Given the description of an element on the screen output the (x, y) to click on. 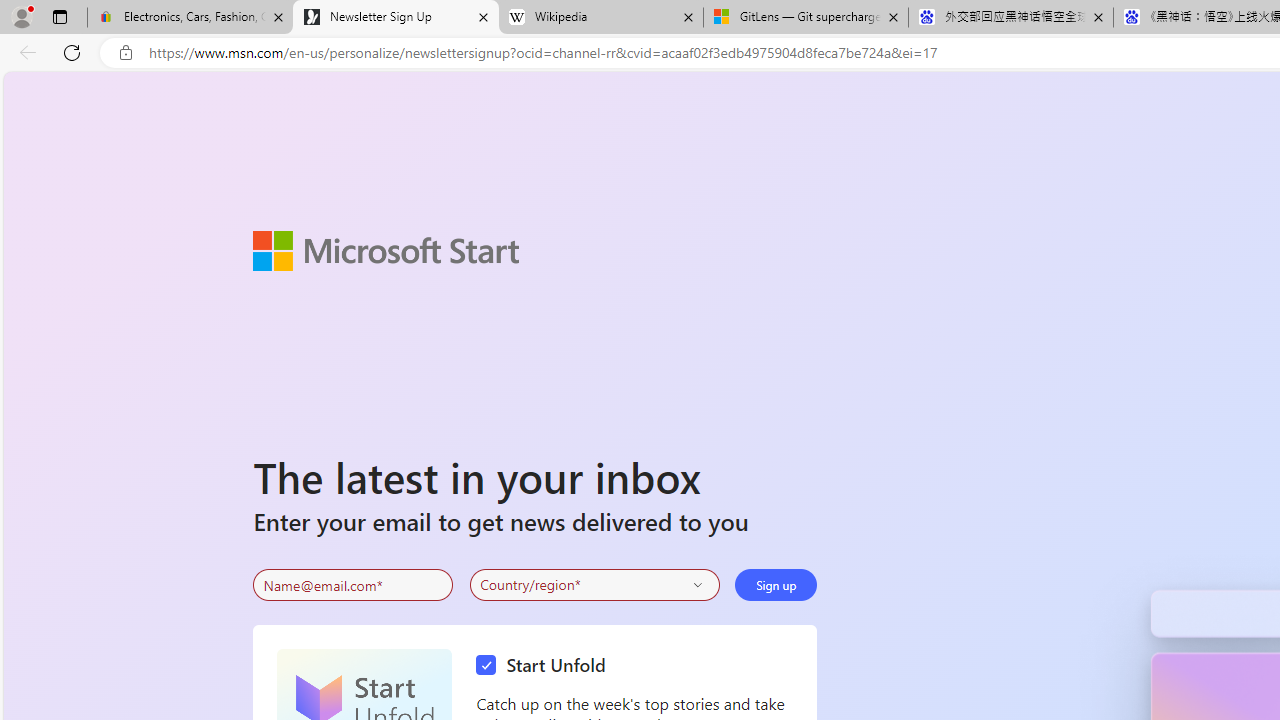
Start Unfold (545, 665)
Select your country (594, 584)
Enter your email (353, 585)
Sign up (775, 584)
Newsletter Sign Up (395, 17)
